Given the description of an element on the screen output the (x, y) to click on. 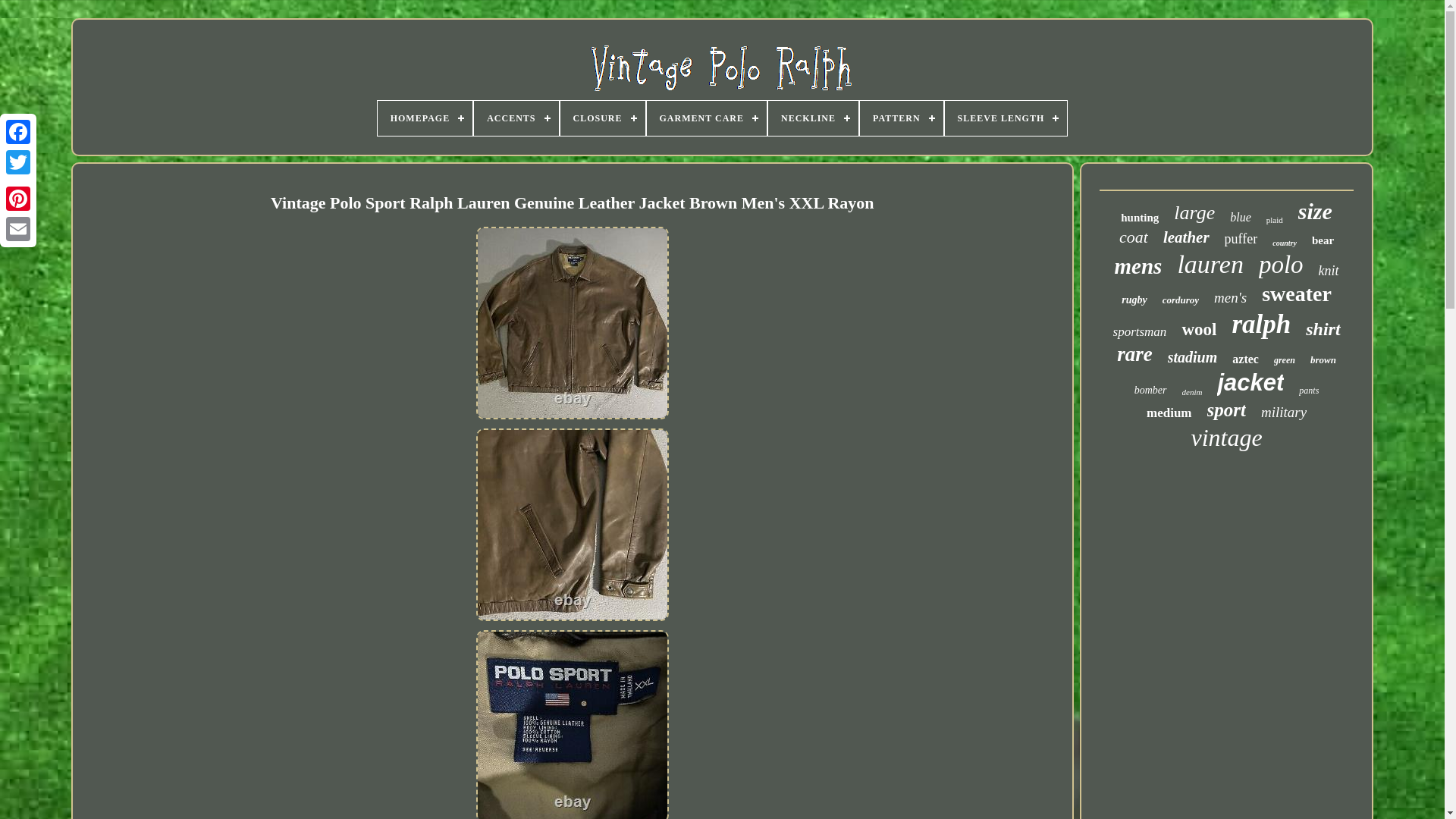
CLOSURE (602, 117)
ACCENTS (515, 117)
HOMEPAGE (424, 117)
